Given the description of an element on the screen output the (x, y) to click on. 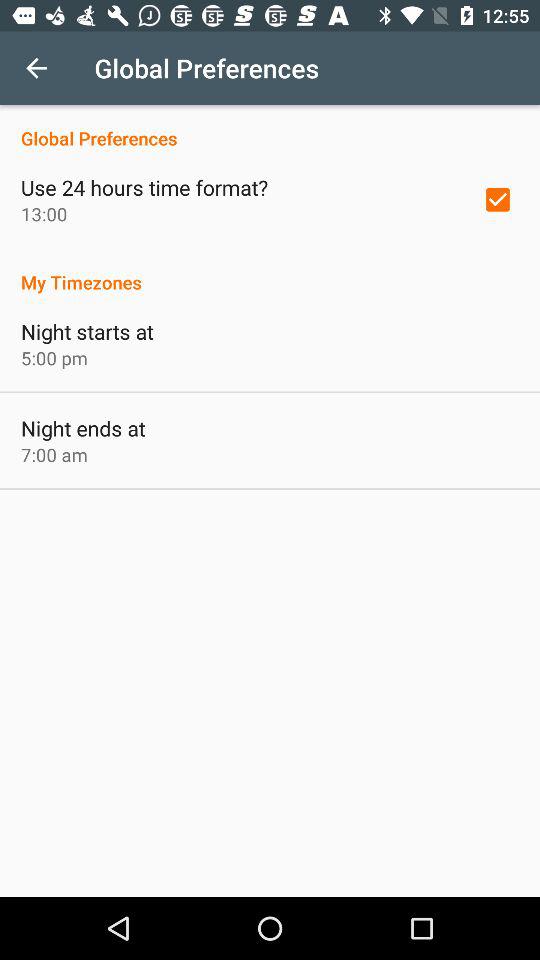
turn off the item next to use 24 hours item (497, 199)
